Given the description of an element on the screen output the (x, y) to click on. 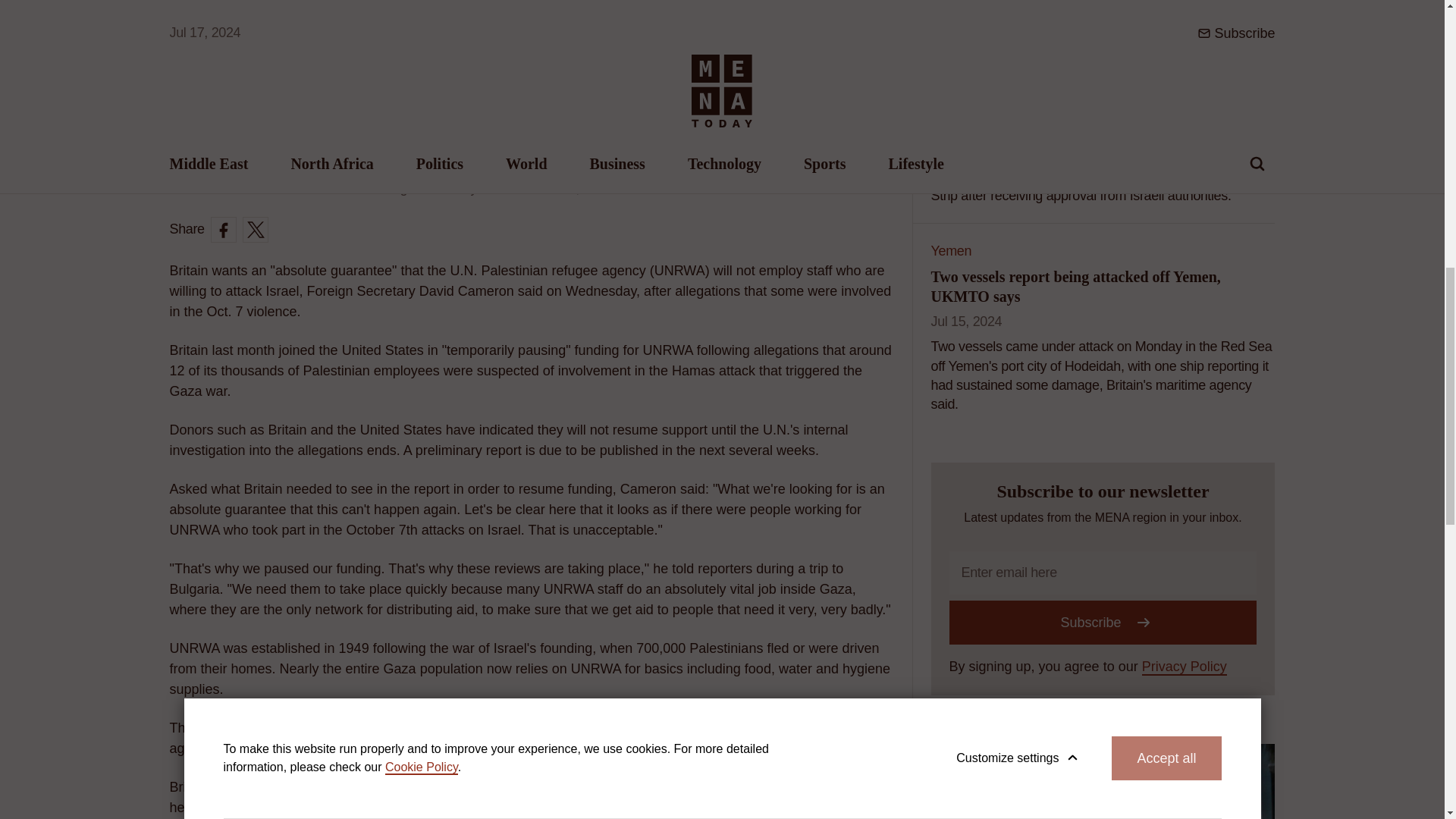
Two vessels report being attacked off Yemen, UKMTO says (1076, 287)
Privacy Policy (1184, 667)
Subscribe (1103, 622)
